Given the description of an element on the screen output the (x, y) to click on. 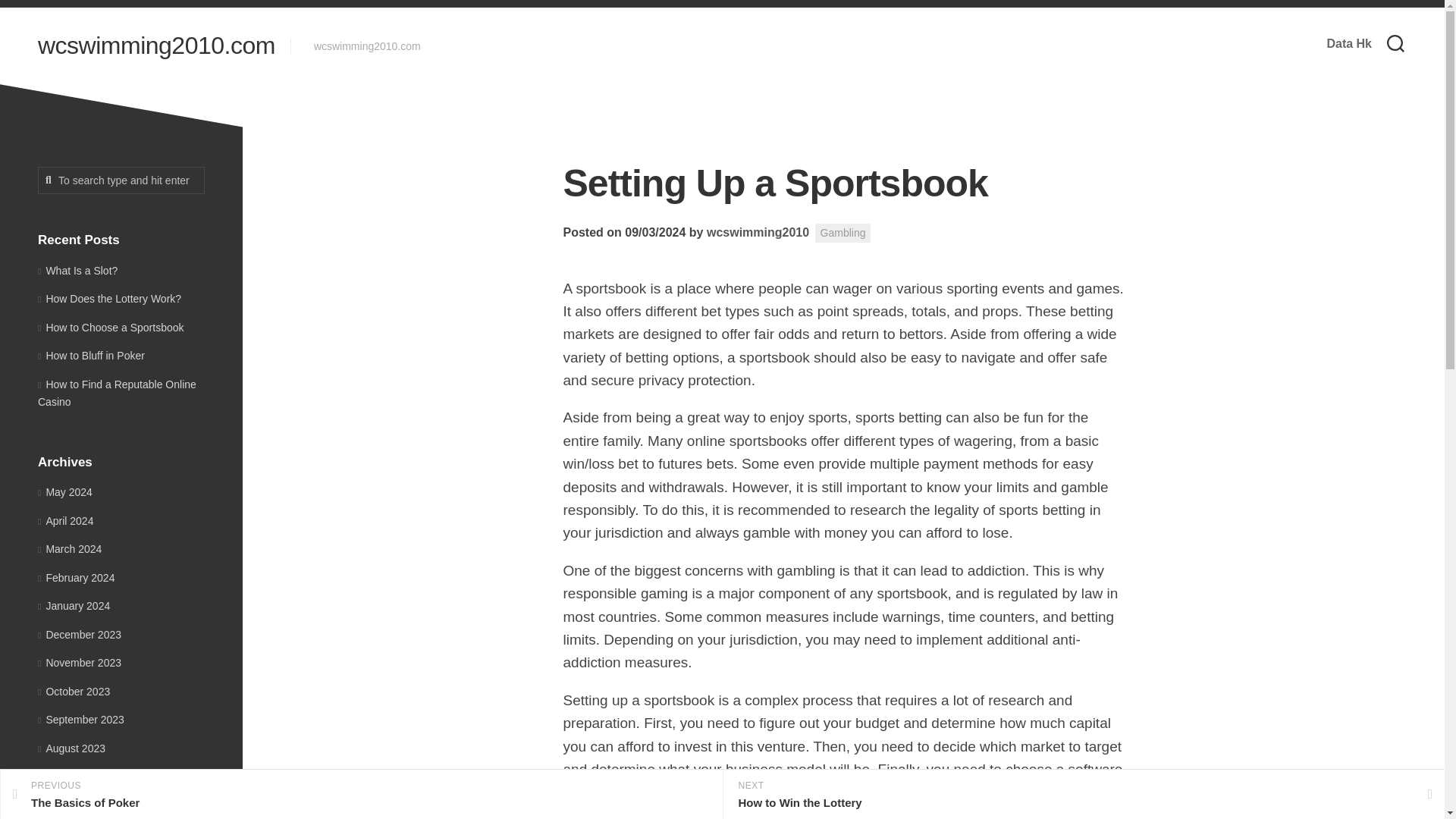
How to Find a Reputable Online Casino (116, 392)
March 2024 (69, 548)
How Does the Lottery Work? (361, 794)
February 2024 (108, 298)
Data Hk (76, 577)
wcswimming2010 (1348, 43)
To search type and hit enter (757, 232)
To search type and hit enter (121, 180)
July 2023 (121, 180)
